Given the description of an element on the screen output the (x, y) to click on. 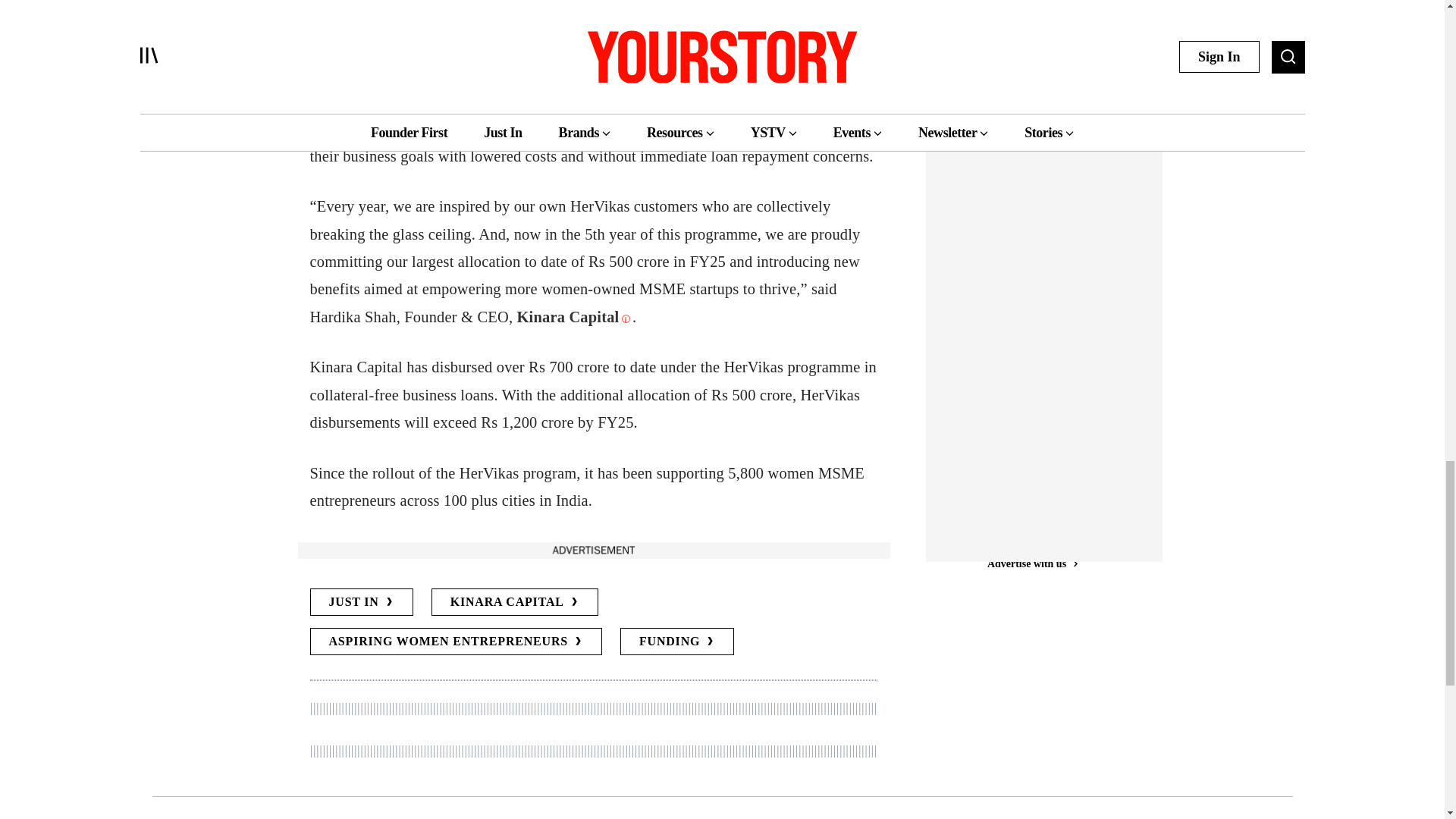
Advertise with us (592, 549)
KINARA CAPITAL (514, 601)
ASPIRING WOMEN ENTREPRENEURS (454, 641)
FUNDING (676, 641)
JUST IN (360, 601)
Advertise with us (1032, 529)
Advertise with us (1032, 42)
